Given the description of an element on the screen output the (x, y) to click on. 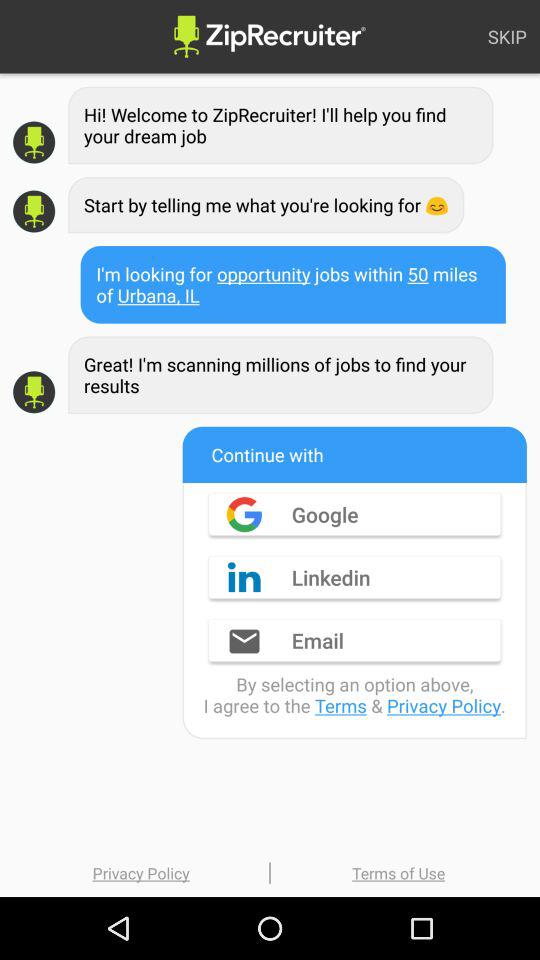
swipe to skip icon (507, 36)
